Given the description of an element on the screen output the (x, y) to click on. 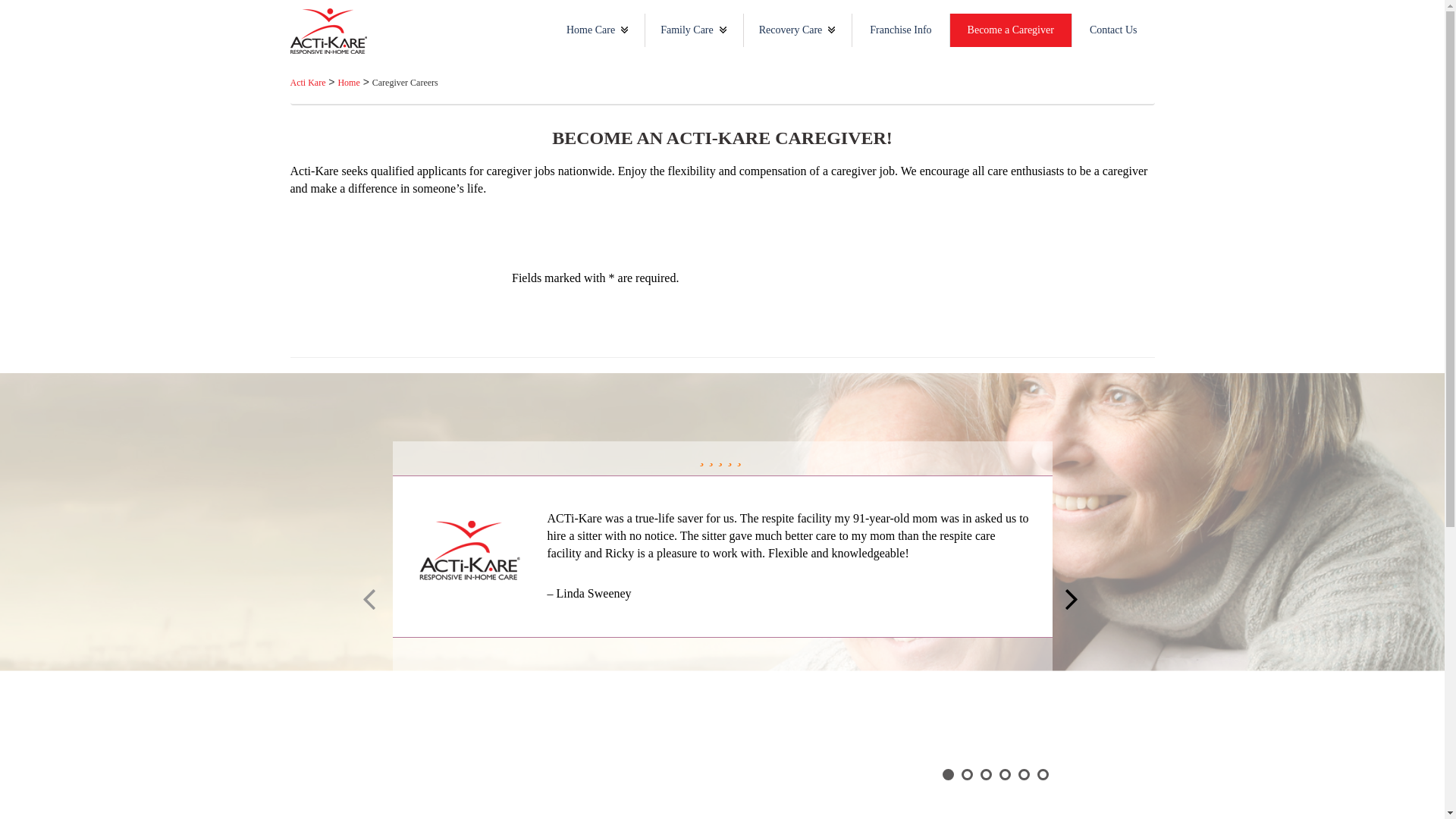
3 (985, 774)
Recovery Care (790, 29)
6 (1042, 774)
Go to Acti Kare. (306, 81)
Franchise Info (900, 29)
2 (966, 774)
4 (1004, 774)
1 (947, 774)
Contact Us (1113, 29)
Home (348, 81)
